Given the description of an element on the screen output the (x, y) to click on. 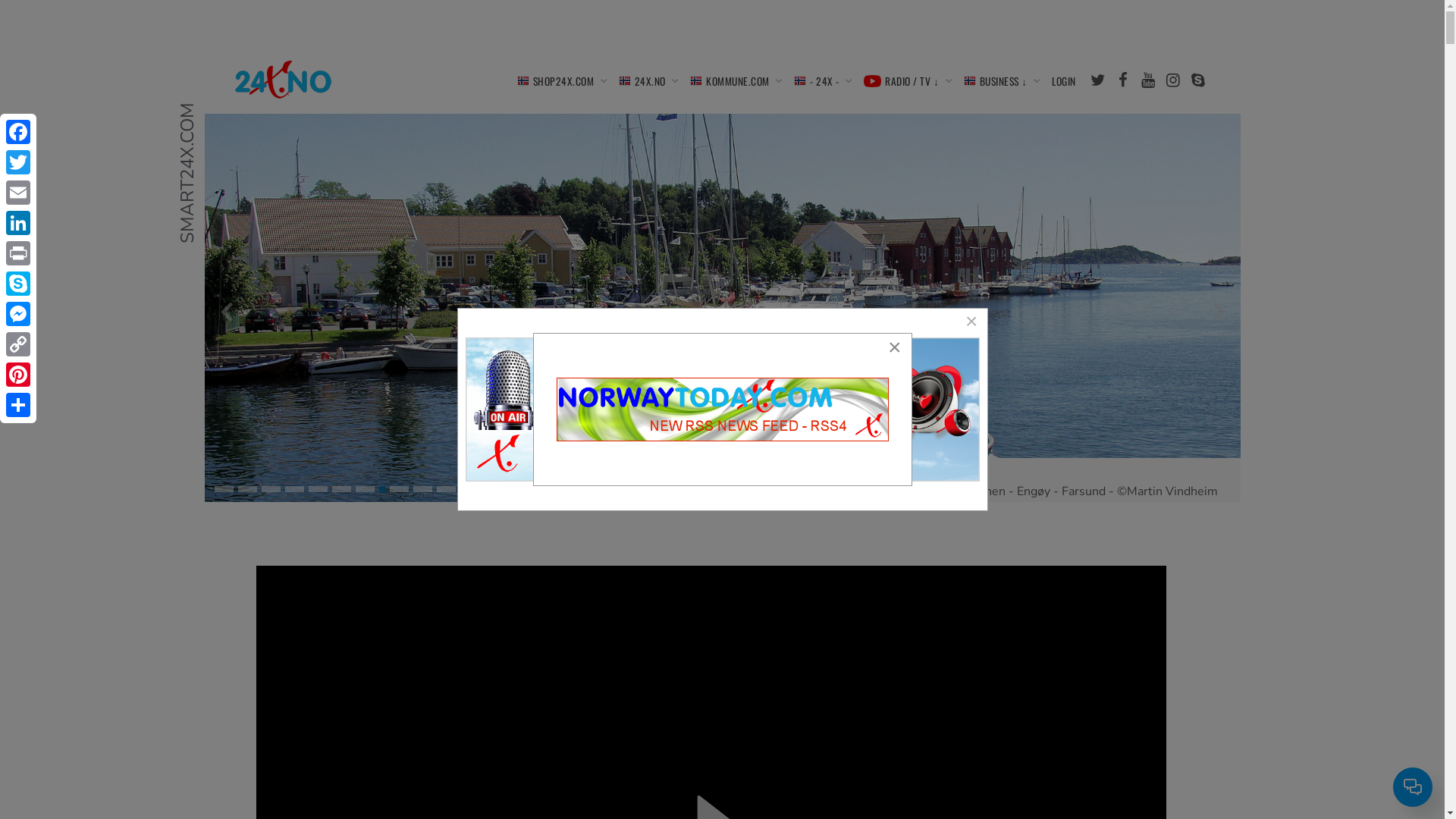
Instagram Element type: text (1172, 80)
Facebook Element type: text (18, 131)
SHOP24X.COM Element type: text (558, 79)
Print Element type: text (18, 253)
24X.NO Element type: text (645, 79)
Skype Element type: text (1198, 80)
Twitter Element type: text (18, 162)
Copy Link Element type: text (18, 344)
LOGIN Element type: text (1063, 79)
Email Element type: text (18, 192)
24x.no Element type: hover (283, 79)
Share Element type: text (18, 404)
Youtube Element type: text (1147, 80)
LinkedIn Element type: text (18, 222)
Messenger Element type: text (18, 313)
Facebook Element type: text (1122, 80)
Twitter Element type: text (1097, 80)
Pinterest Element type: text (18, 374)
Skype Element type: text (18, 283)
